Given the description of an element on the screen output the (x, y) to click on. 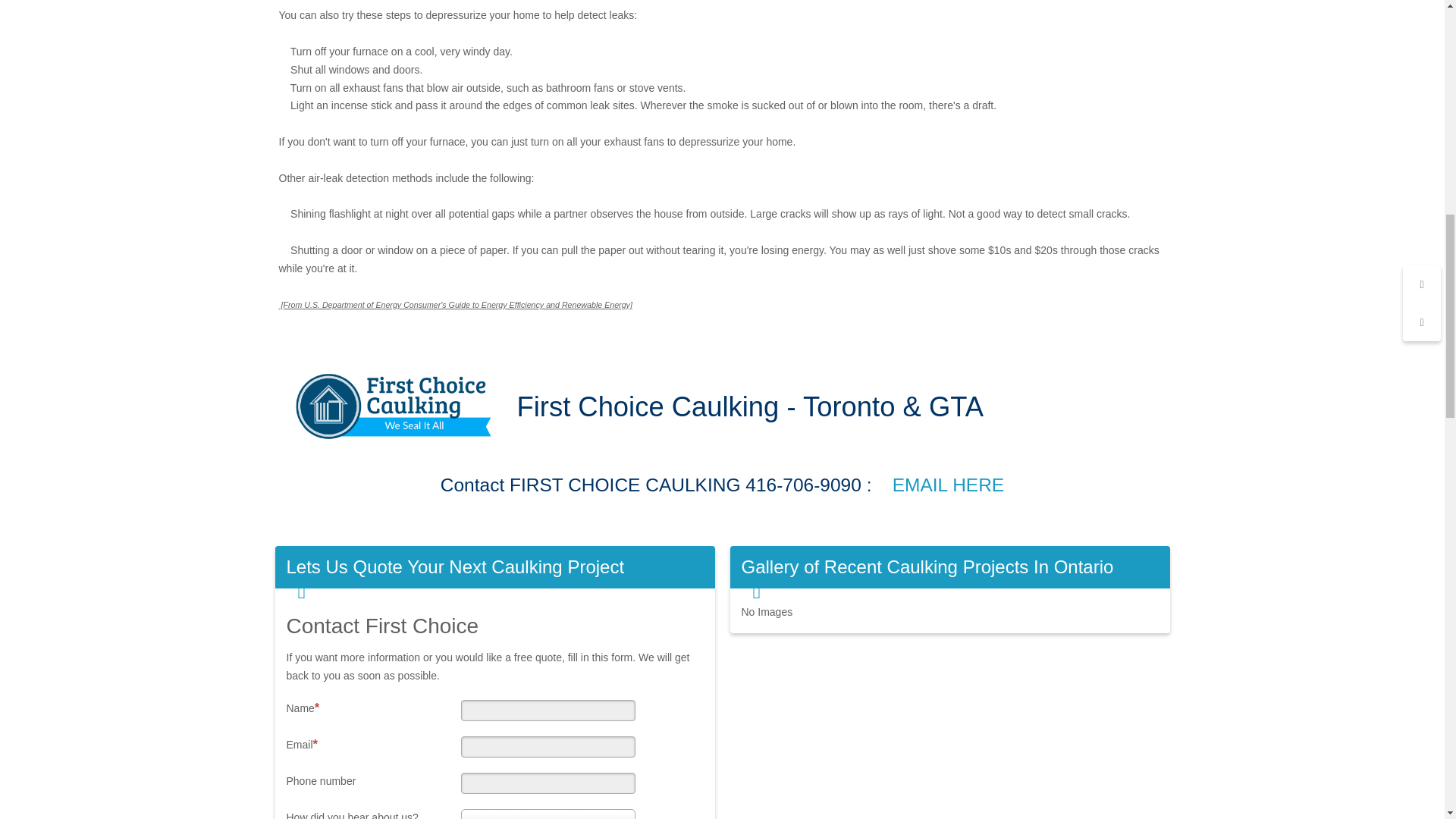
First Choice Caulking Toronto (397, 408)
EMAIL HERE (948, 485)
